Given the description of an element on the screen output the (x, y) to click on. 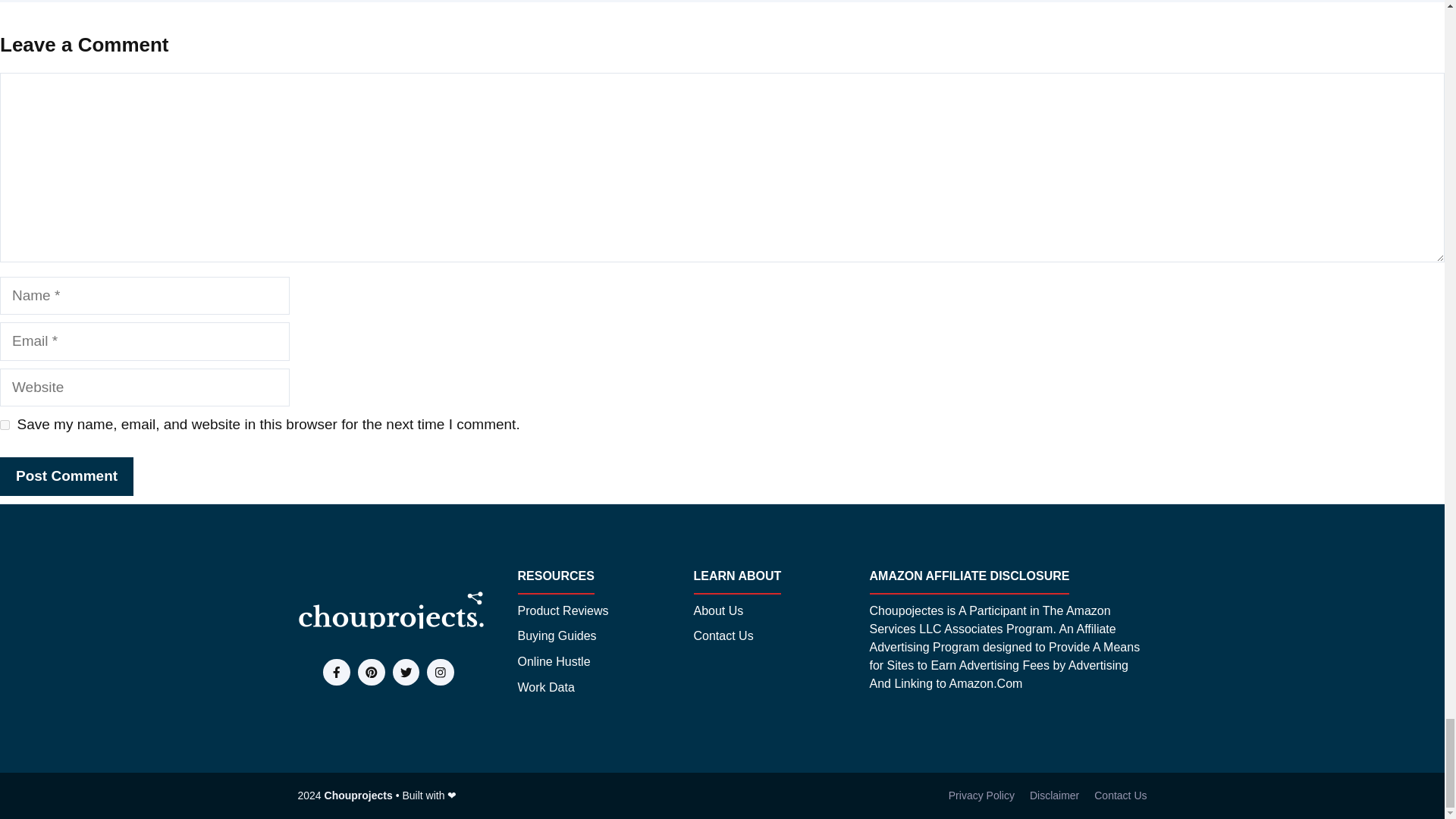
Contact Us (1120, 795)
Privacy Policy (981, 795)
Post Comment (66, 476)
About Us (717, 610)
yes (5, 424)
Work Data (544, 687)
Buying Guides (555, 636)
Disclaimer (1053, 795)
Product Reviews (562, 610)
Post Comment (66, 476)
